Given the description of an element on the screen output the (x, y) to click on. 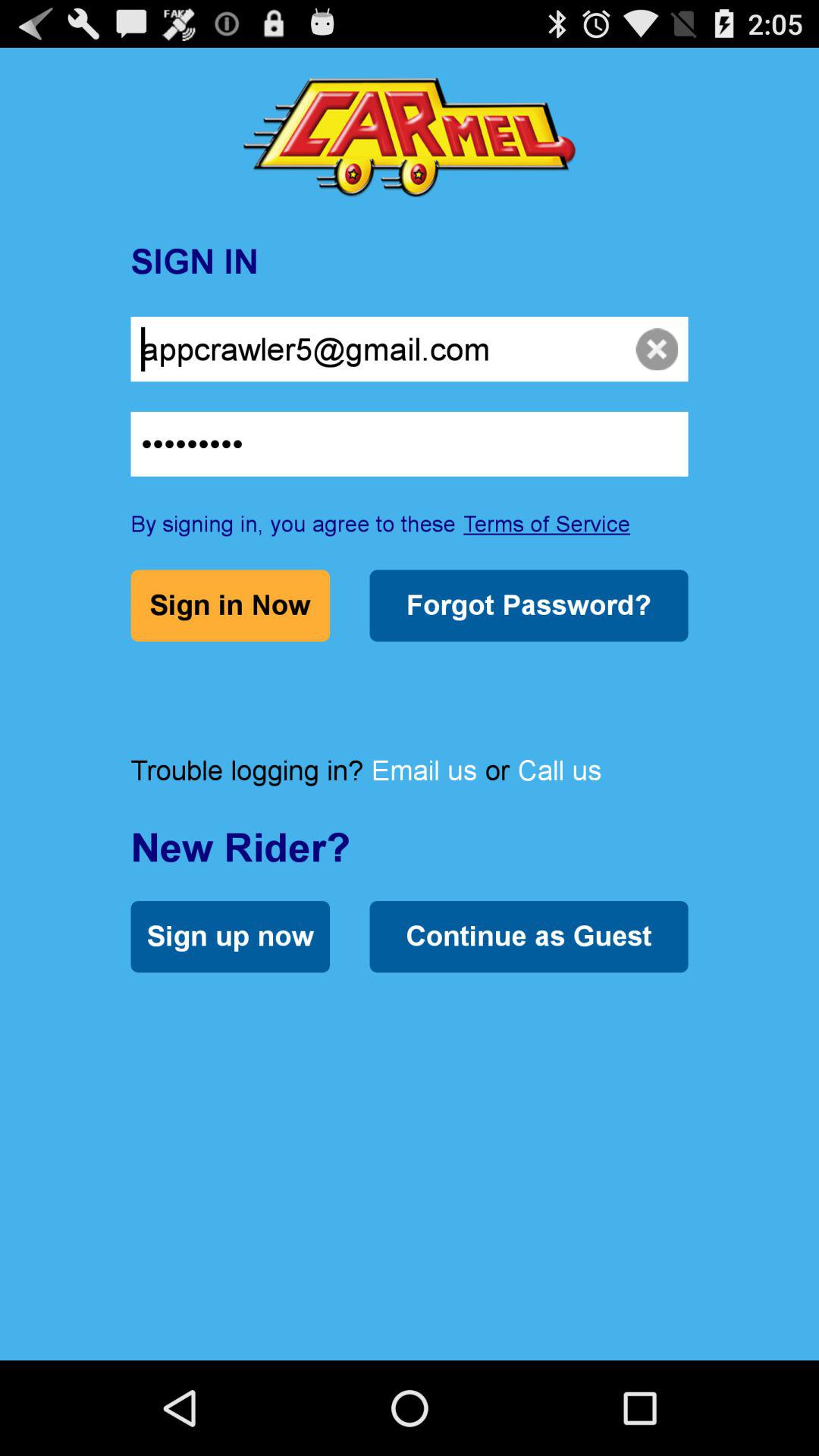
open the item to the left of or icon (424, 770)
